Given the description of an element on the screen output the (x, y) to click on. 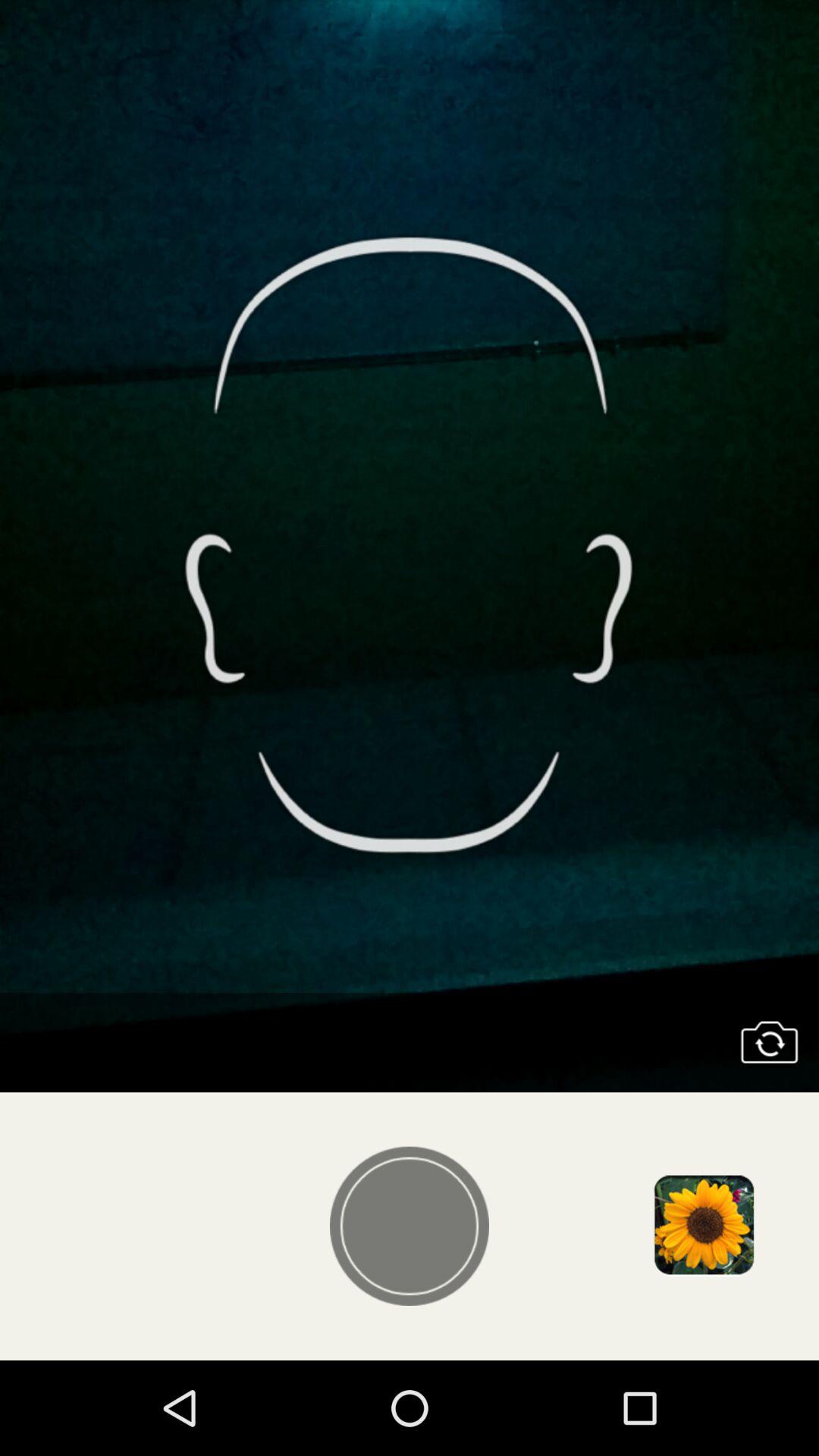
take photo (409, 1225)
